Given the description of an element on the screen output the (x, y) to click on. 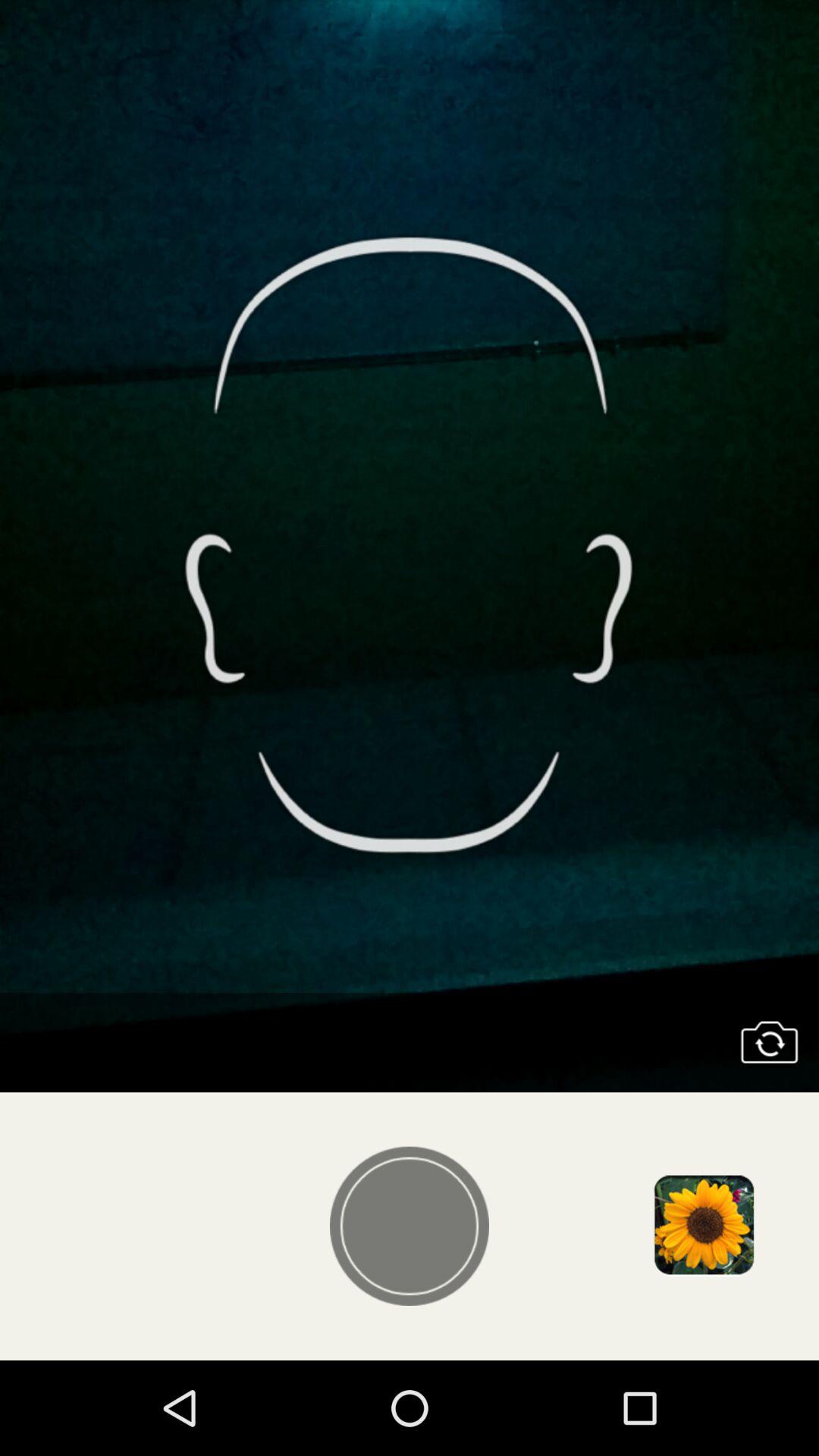
take photo (409, 1225)
